Given the description of an element on the screen output the (x, y) to click on. 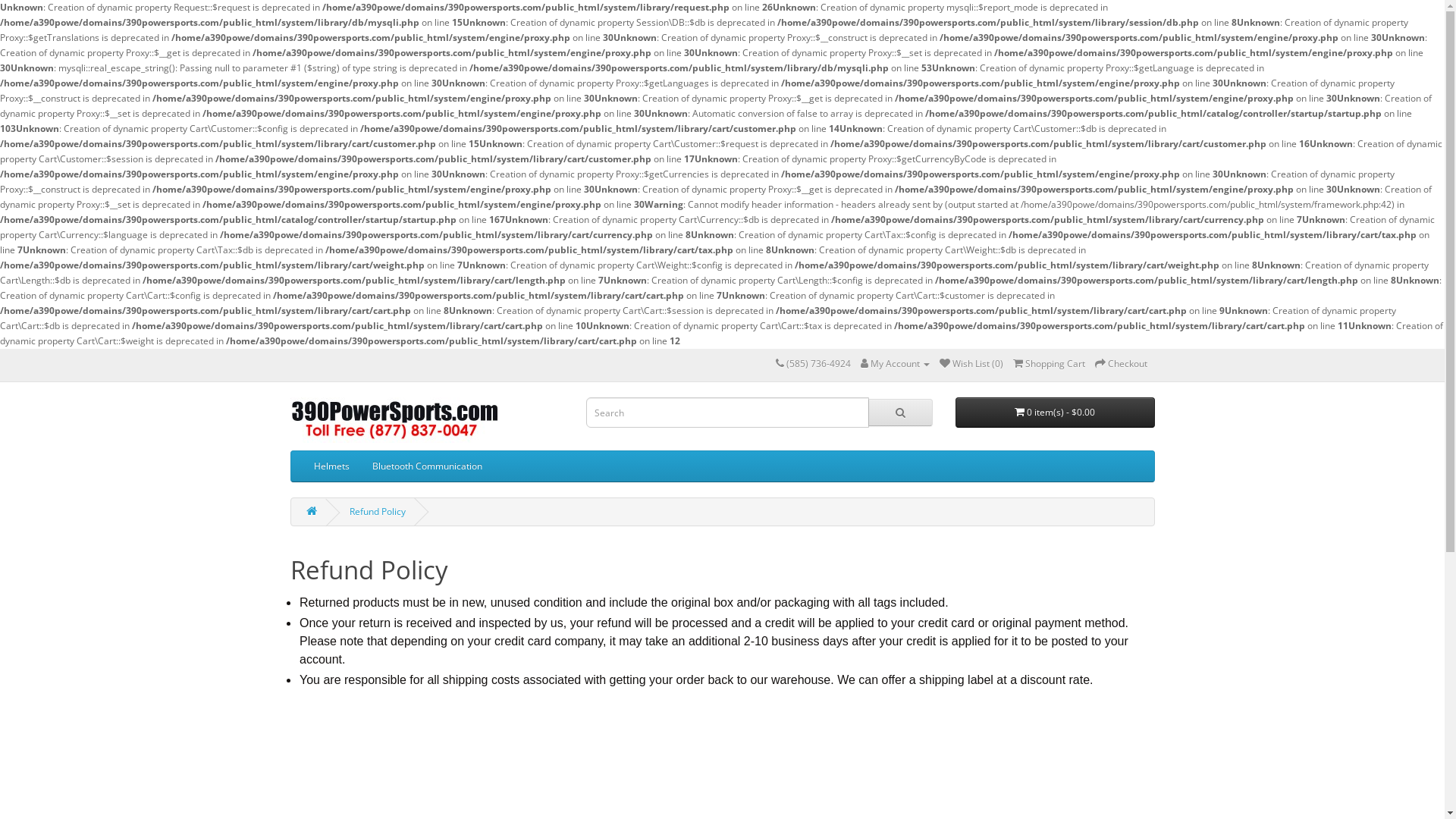
Refund Policy Element type: text (376, 511)
Bluetooth Communication Element type: text (426, 466)
390PowerSports.com Element type: hover (393, 419)
Shopping Cart Element type: text (1049, 363)
My Account Element type: text (893, 363)
Wish List (0) Element type: text (970, 363)
Checkout Element type: text (1121, 363)
0 item(s) - $0.00 Element type: text (1054, 412)
Helmets Element type: text (330, 466)
